Given the description of an element on the screen output the (x, y) to click on. 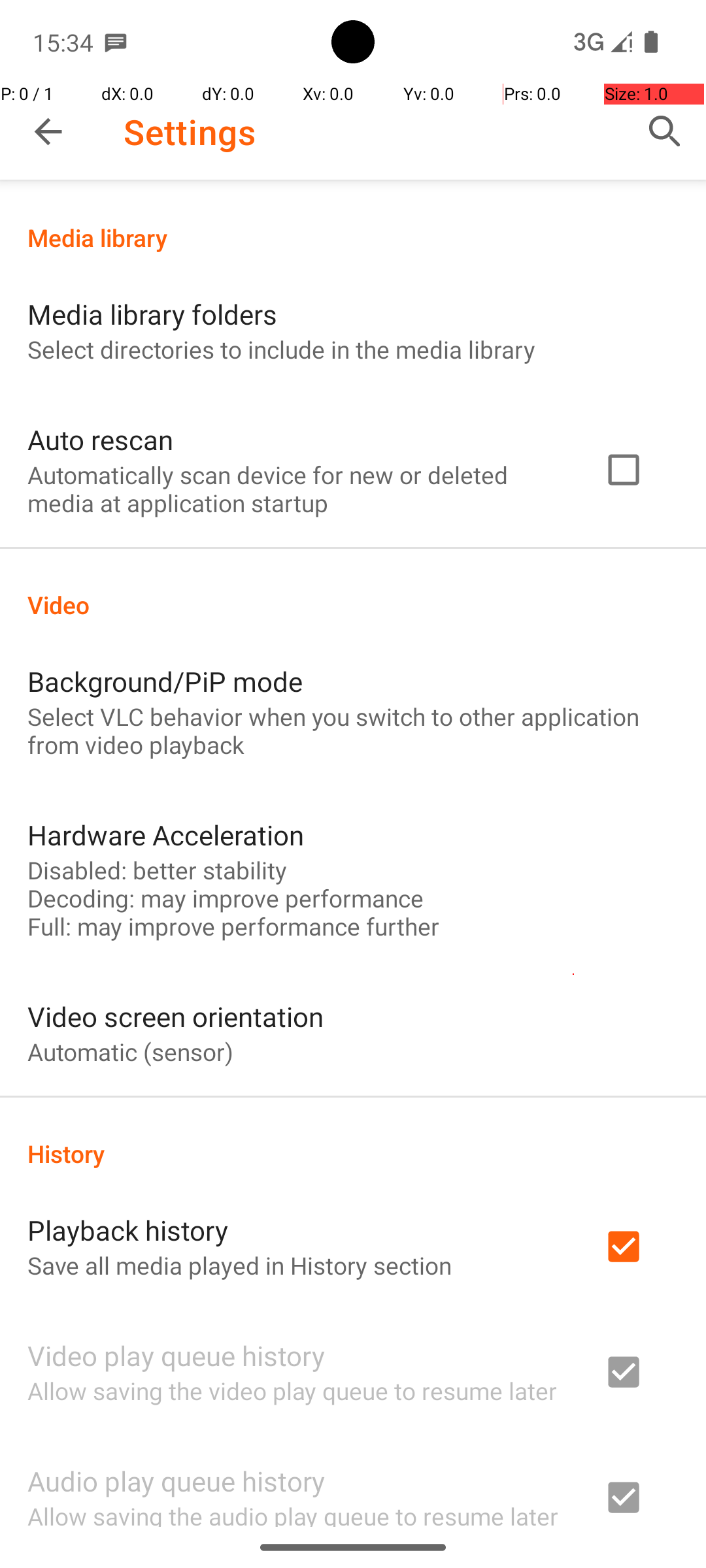
Media library Element type: android.widget.TextView (352, 237)
Media library folders Element type: android.widget.TextView (152, 313)
Select directories to include in the media library Element type: android.widget.TextView (281, 348)
Auto rescan Element type: android.widget.TextView (100, 438)
Automatically scan device for new or deleted media at application startup Element type: android.widget.TextView (297, 488)
Background/PiP mode Element type: android.widget.TextView (165, 680)
Select VLC behavior when you switch to other application from video playback Element type: android.widget.TextView (352, 730)
Hardware Acceleration Element type: android.widget.TextView (165, 834)
Disabled: better stability
Decoding: may improve performance
Full: may improve performance further Element type: android.widget.TextView (233, 897)
Video screen orientation Element type: android.widget.TextView (175, 1015)
Automatic (sensor) Element type: android.widget.TextView (130, 1051)
Playback history Element type: android.widget.TextView (127, 1229)
Save all media played in History section Element type: android.widget.TextView (239, 1264)
Video play queue history Element type: android.widget.TextView (175, 1354)
Allow saving the video play queue to resume later Element type: android.widget.TextView (291, 1390)
Audio play queue history Element type: android.widget.TextView (176, 1480)
Allow saving the audio play queue to resume later Element type: android.widget.TextView (292, 1512)
